Given the description of an element on the screen output the (x, y) to click on. 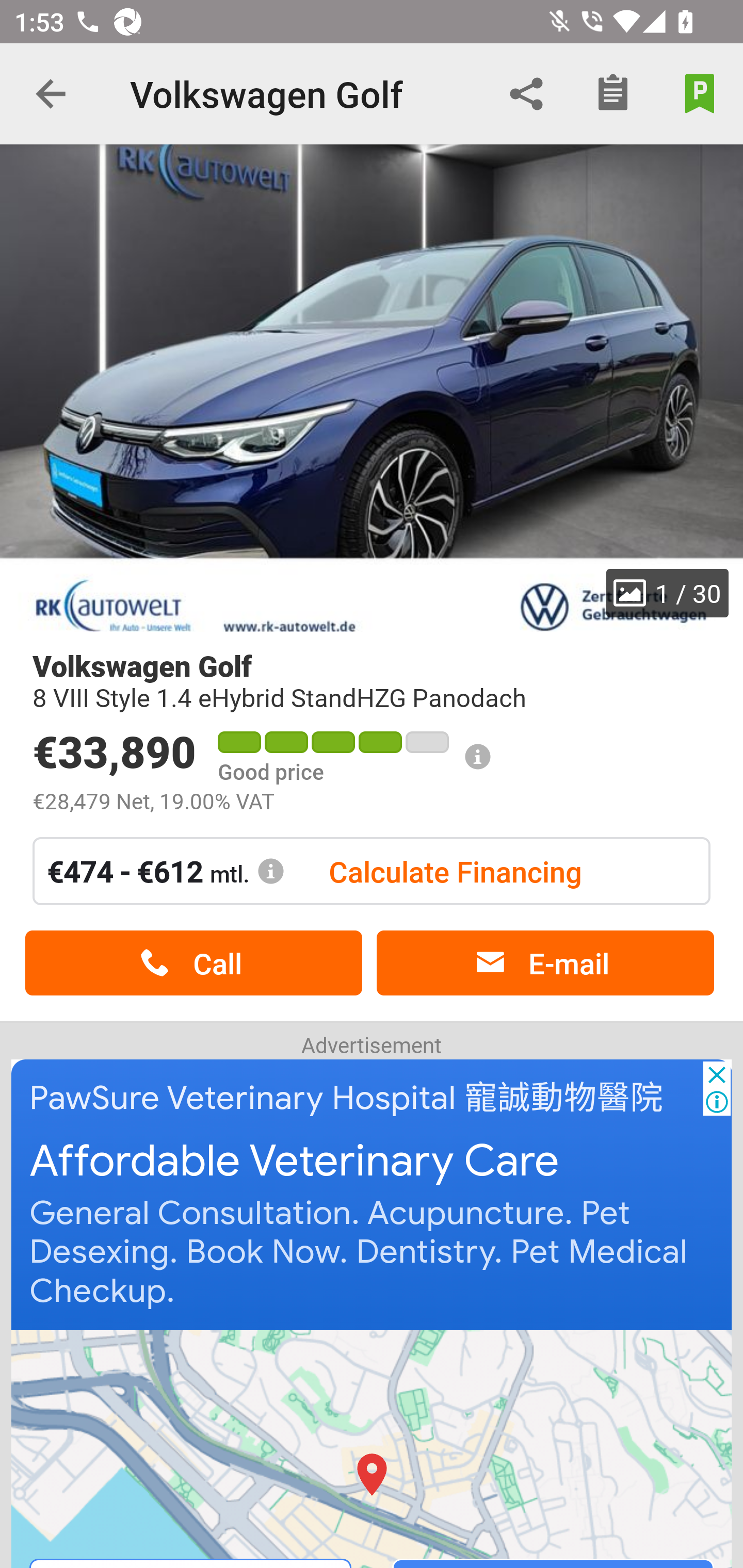
Navigate up (50, 93)
Share via (525, 93)
Checklist (612, 93)
Park (699, 93)
Calculate Financing (454, 870)
€474 - €612 mtl. (165, 870)
Call (193, 963)
E-mail (545, 963)
PawSure Veterinary Hospital 寵誠動物醫院 (346, 1097)
Affordable Veterinary Care (294, 1161)
Directions Call (372, 1448)
